Given the description of an element on the screen output the (x, y) to click on. 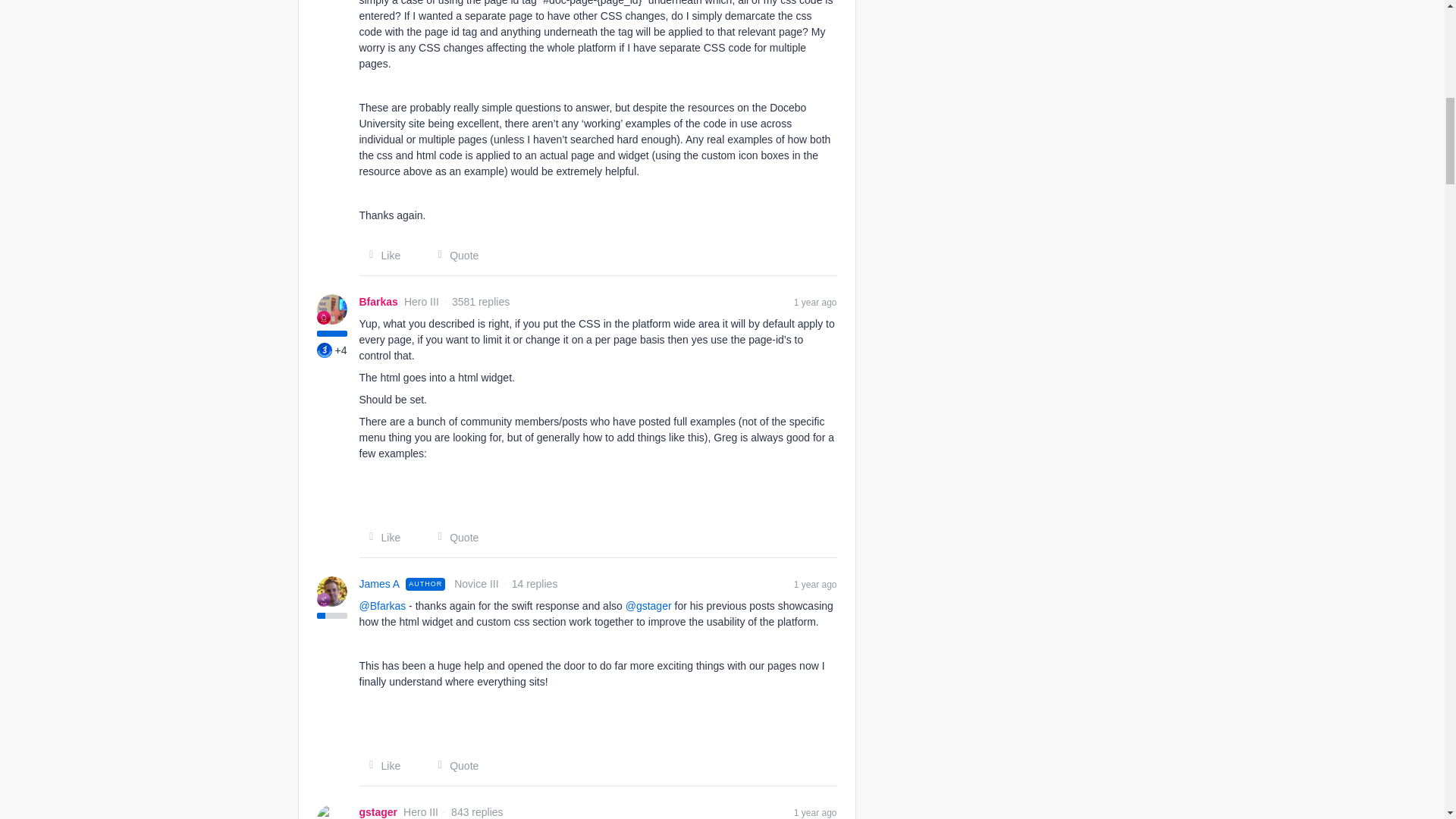
gstager (378, 811)
James A (379, 584)
Quote (453, 255)
Novice III (323, 599)
James A (379, 584)
1 year ago (815, 301)
Bfarkas (378, 302)
Like (380, 537)
Community 3rd Birthday (324, 350)
Like (380, 765)
